Given the description of an element on the screen output the (x, y) to click on. 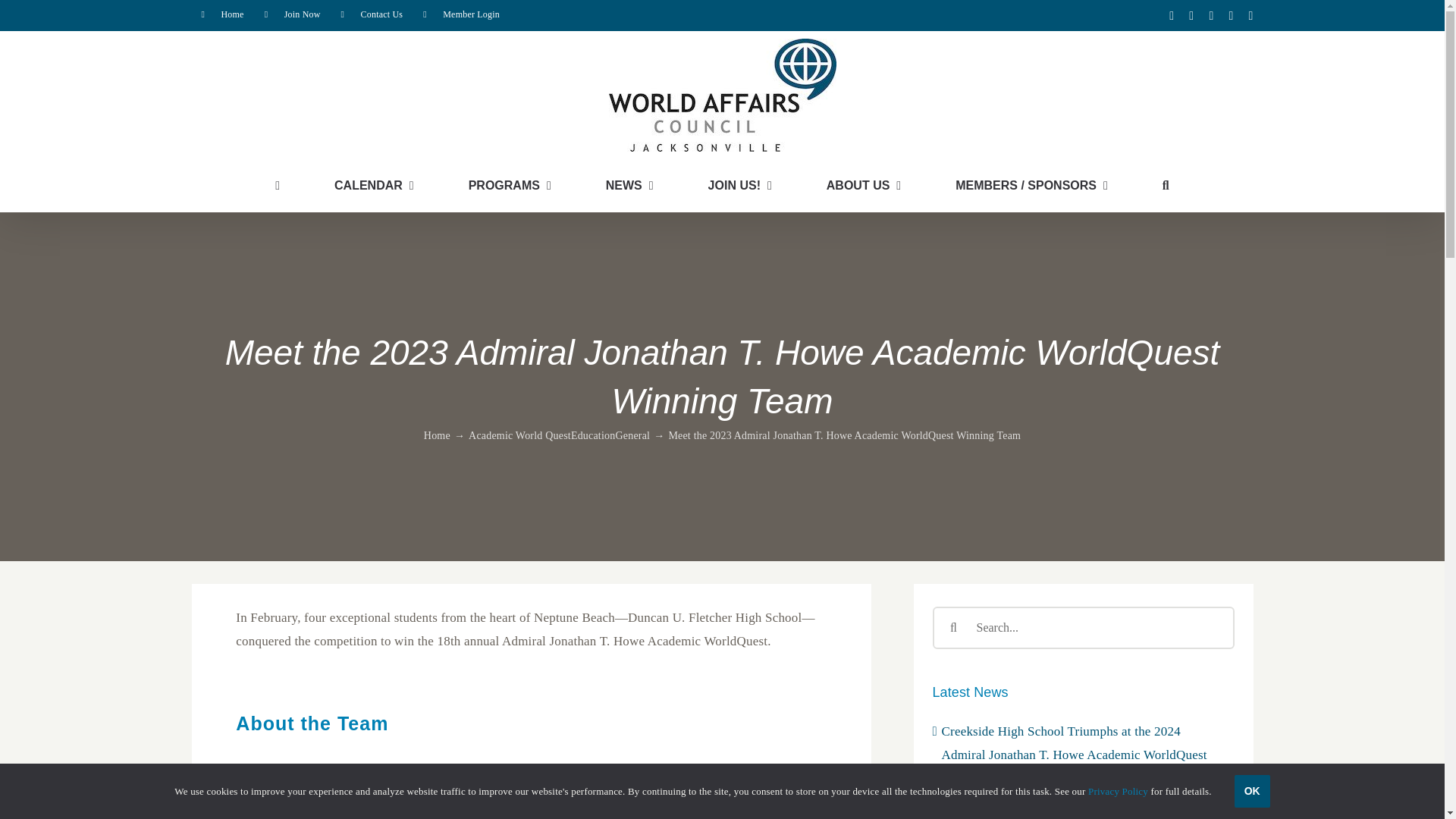
Contact Us (372, 15)
JOIN US! (739, 185)
Join Now (292, 15)
NEWS (629, 185)
Member Login (461, 15)
Home (221, 15)
ABOUT US (864, 185)
Member Login (461, 15)
CALENDAR (373, 185)
PROGRAMS (509, 185)
